Given the description of an element on the screen output the (x, y) to click on. 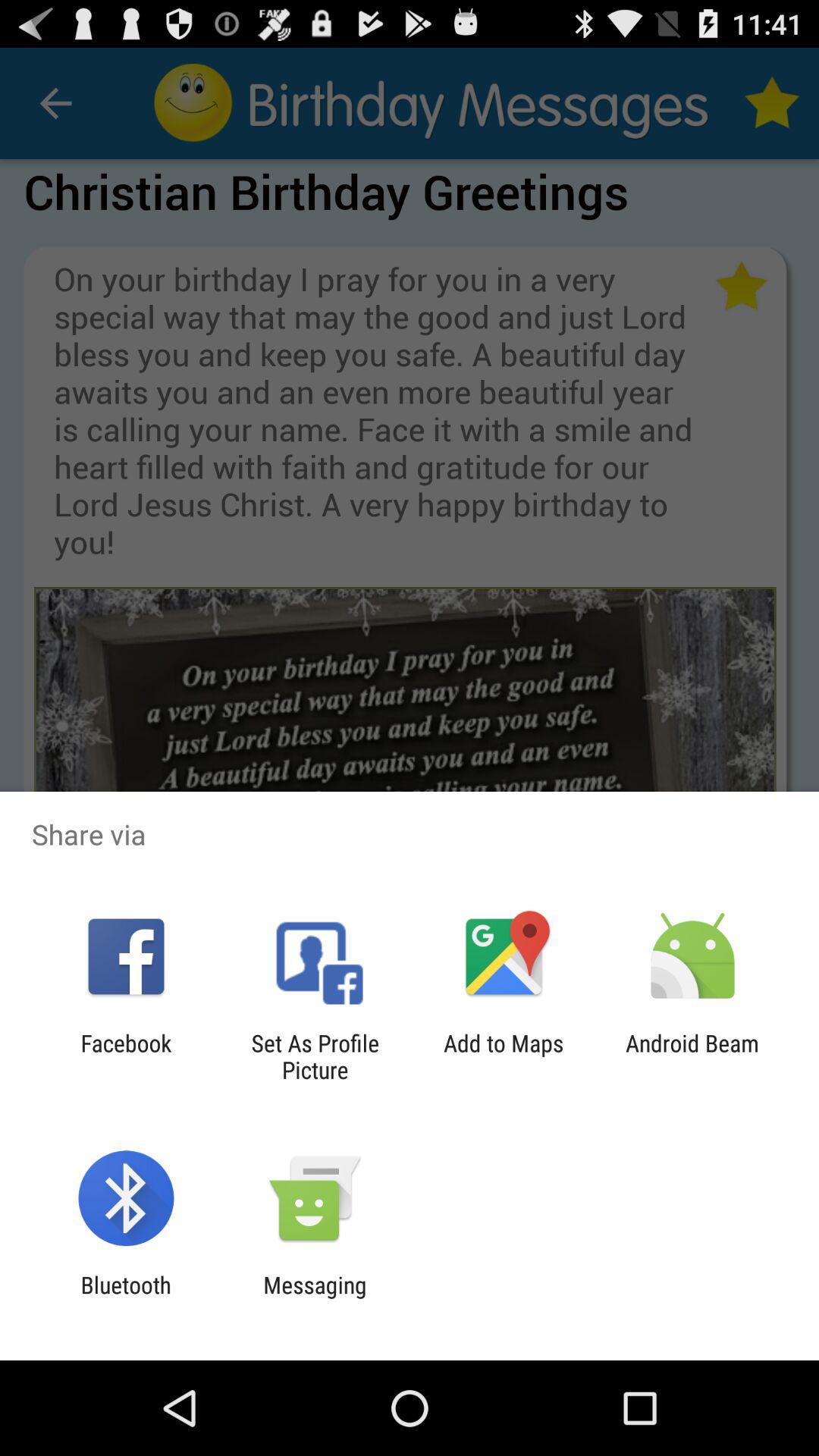
swipe until the facebook (125, 1056)
